Given the description of an element on the screen output the (x, y) to click on. 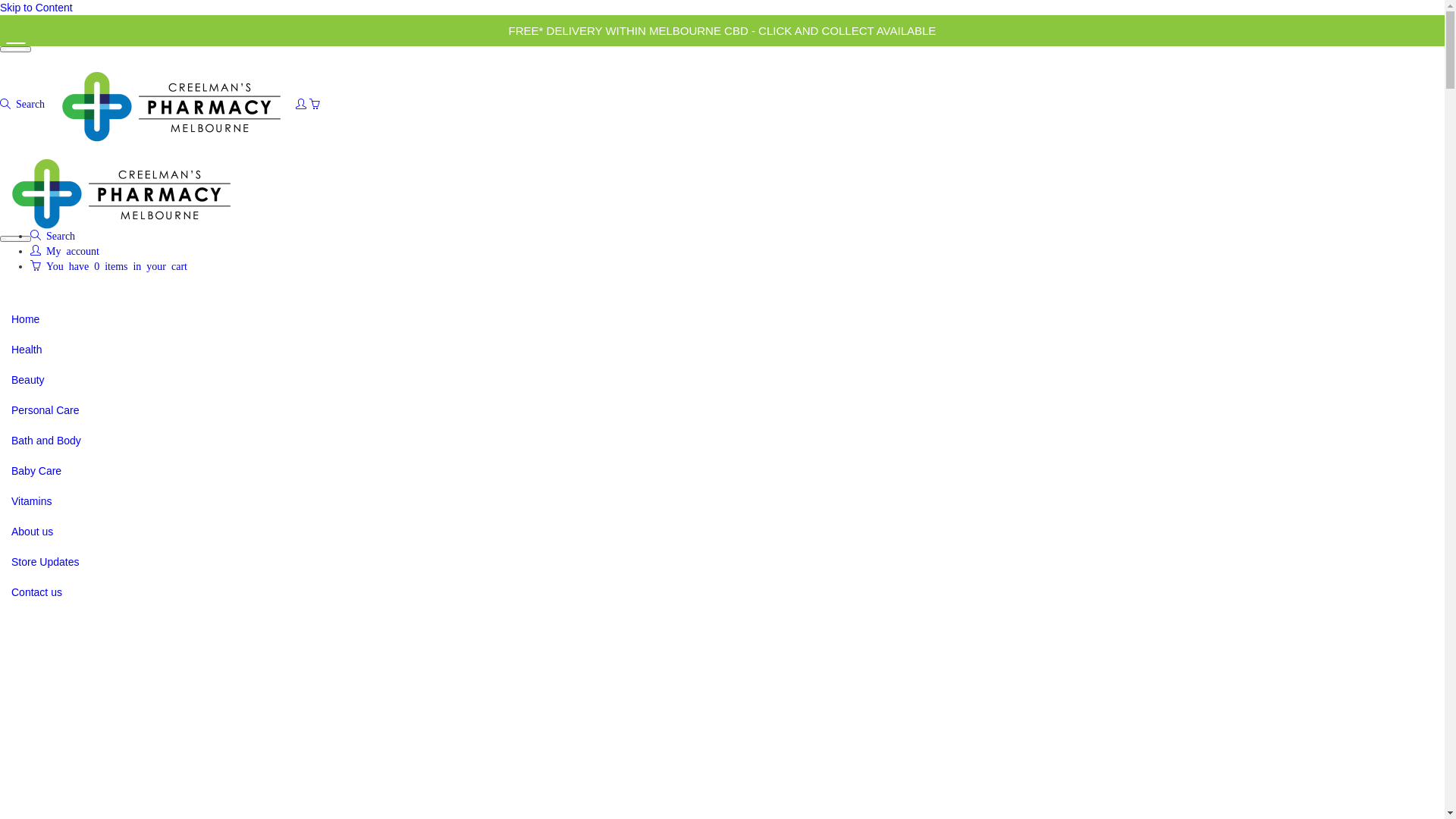
Personal Care Element type: text (45, 410)
Bath and Body Element type: text (46, 440)
My account Element type: text (64, 249)
You have 0 items in your cart Element type: text (108, 265)
Home Element type: text (25, 319)
Skip to Content Element type: text (36, 7)
Health Element type: text (26, 349)
About us Element type: text (32, 531)
Press space bar to toggle menu Element type: text (15, 238)
Search Element type: text (52, 234)
Store Updates Element type: text (45, 561)
Search Element type: text (25, 103)
Vitamins Element type: text (31, 501)
Contact us Element type: text (36, 592)
Beauty Element type: text (27, 379)
Baby Care Element type: text (36, 470)
